Given the description of an element on the screen output the (x, y) to click on. 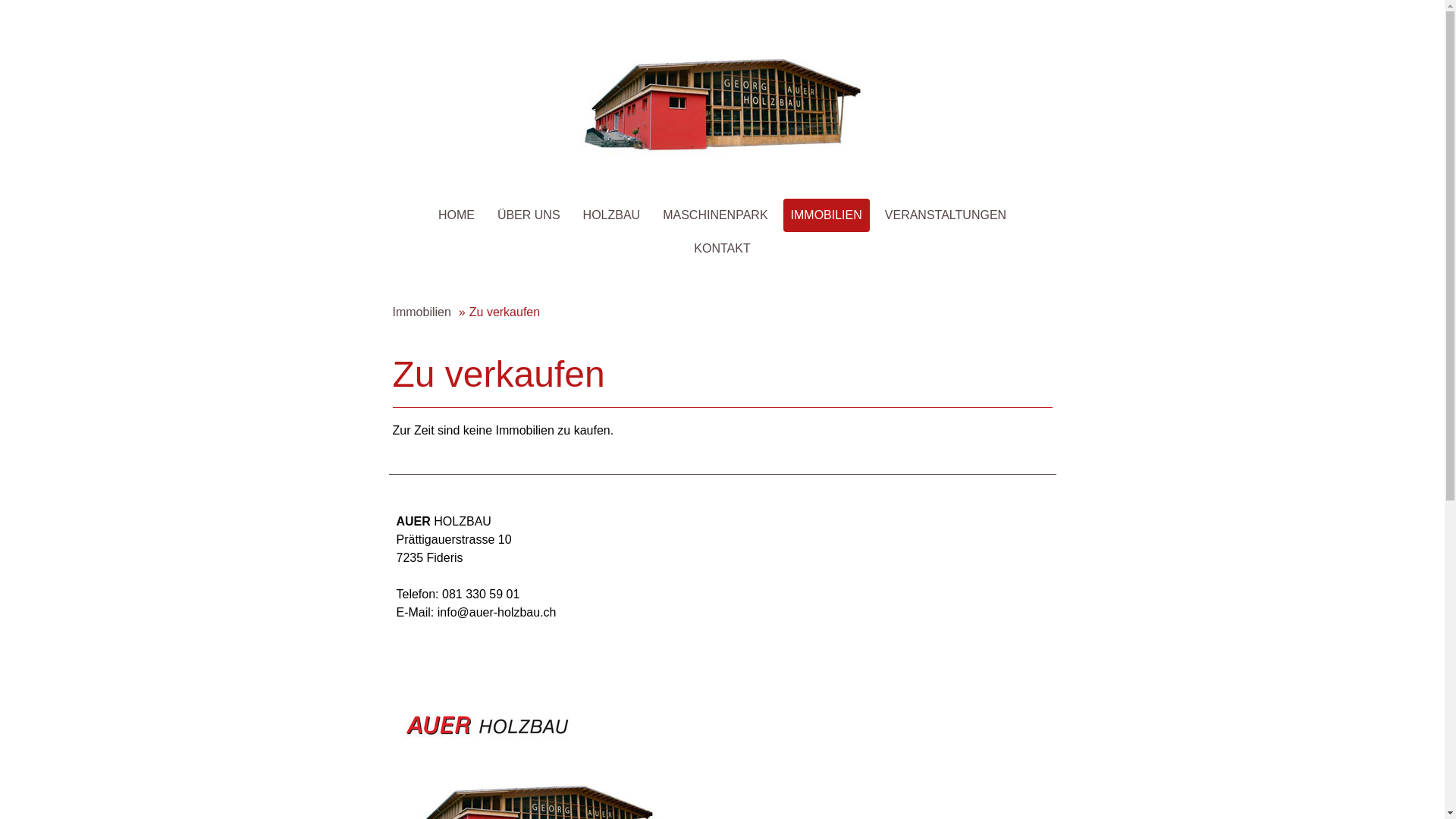
IMMOBILIEN Element type: text (826, 215)
Zu verkaufen Element type: text (498, 311)
Immobilien Element type: text (419, 311)
KONTAKT Element type: text (721, 248)
HOLZBAU Element type: text (611, 215)
VERANSTALTUNGEN Element type: text (945, 215)
MASCHINENPARK Element type: text (715, 215)
HOME Element type: text (456, 215)
